Given the description of an element on the screen output the (x, y) to click on. 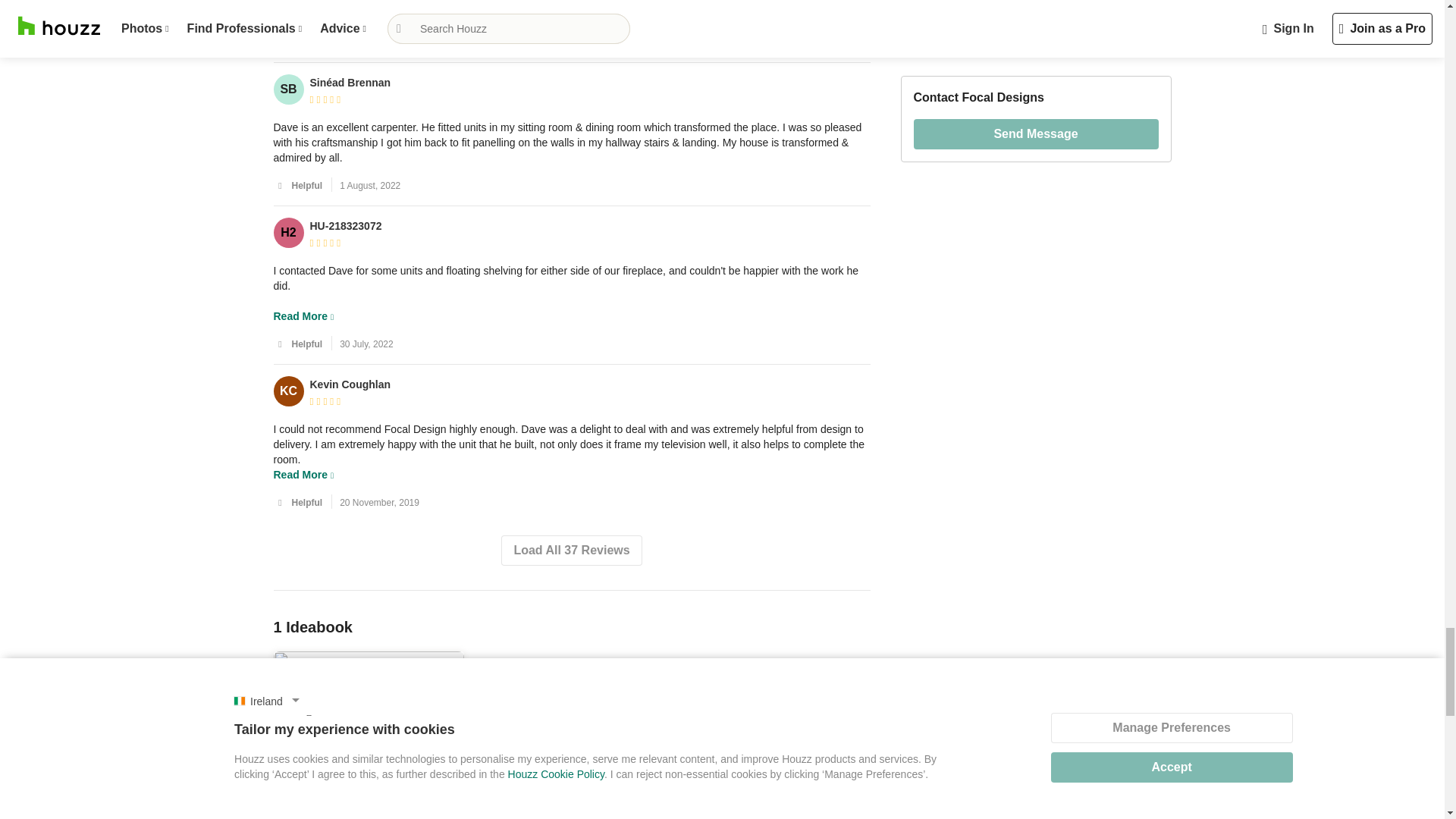
Alcove units (368, 800)
